Given the description of an element on the screen output the (x, y) to click on. 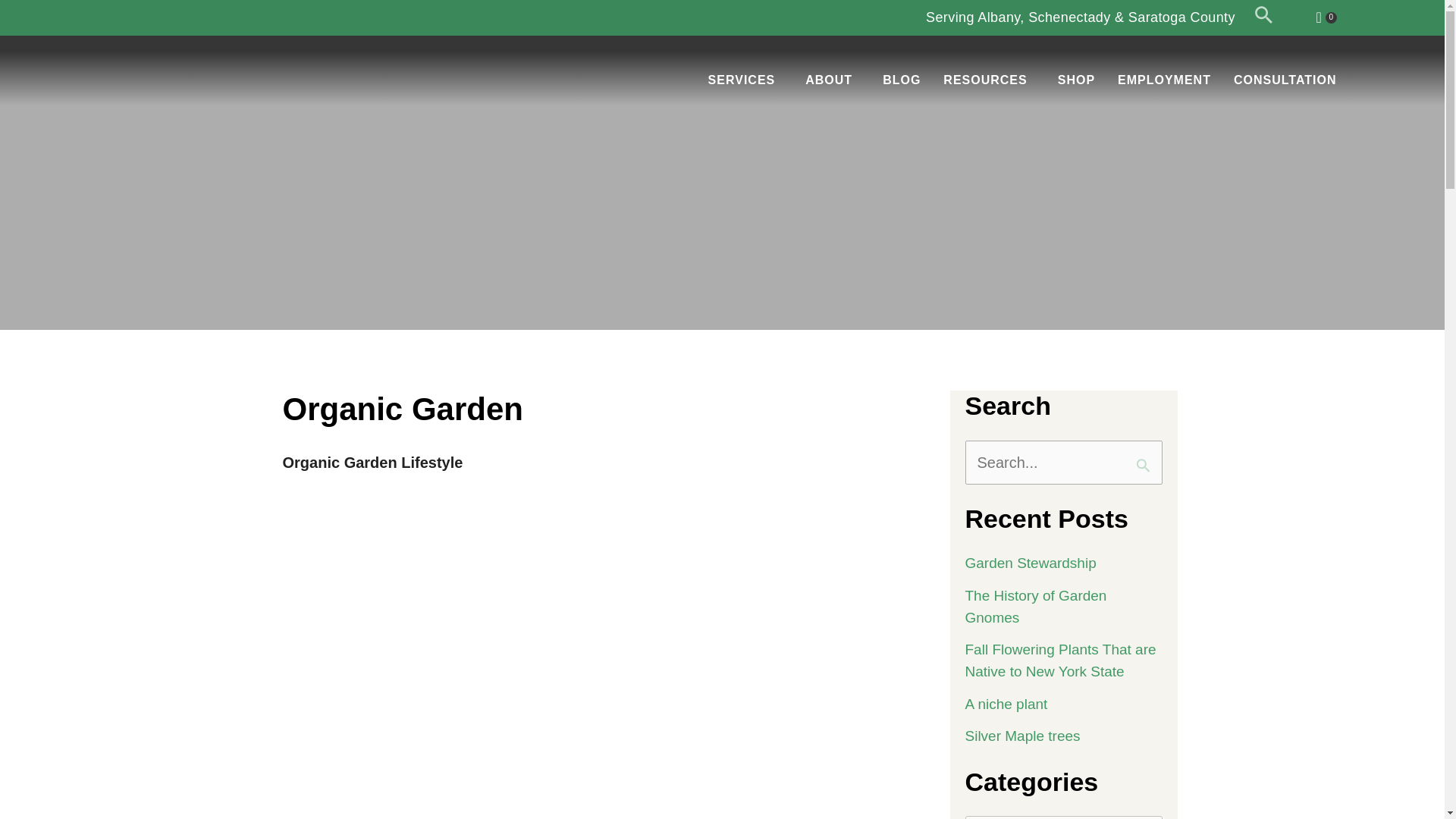
EMPLOYMENT (1164, 80)
Search (1144, 457)
Search (1144, 457)
0 (1325, 17)
CONSULTATION (1285, 80)
BLOG (900, 80)
SHOP (1076, 80)
ABOUT (831, 80)
RESOURCES (988, 80)
SERVICES (745, 80)
